Given the description of an element on the screen output the (x, y) to click on. 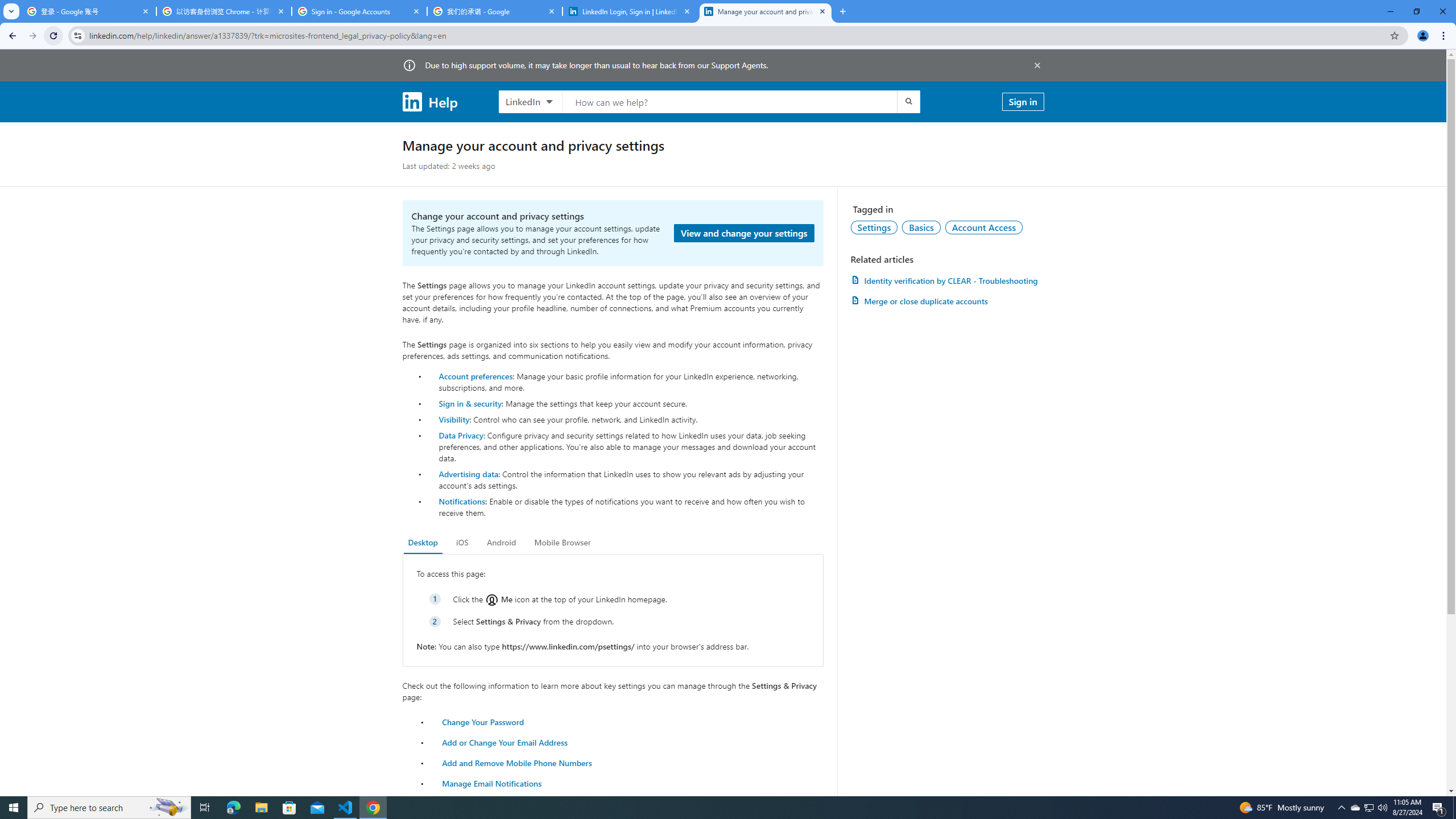
Manage Email Notifications (491, 782)
AutomationID: topic-link-a151002 (983, 227)
AutomationID: article-link-a1457505 (946, 280)
Data Privacy (460, 434)
View and change your settings (743, 232)
AutomationID: topic-link-a149001 (874, 227)
iOS (462, 542)
